Given the description of an element on the screen output the (x, y) to click on. 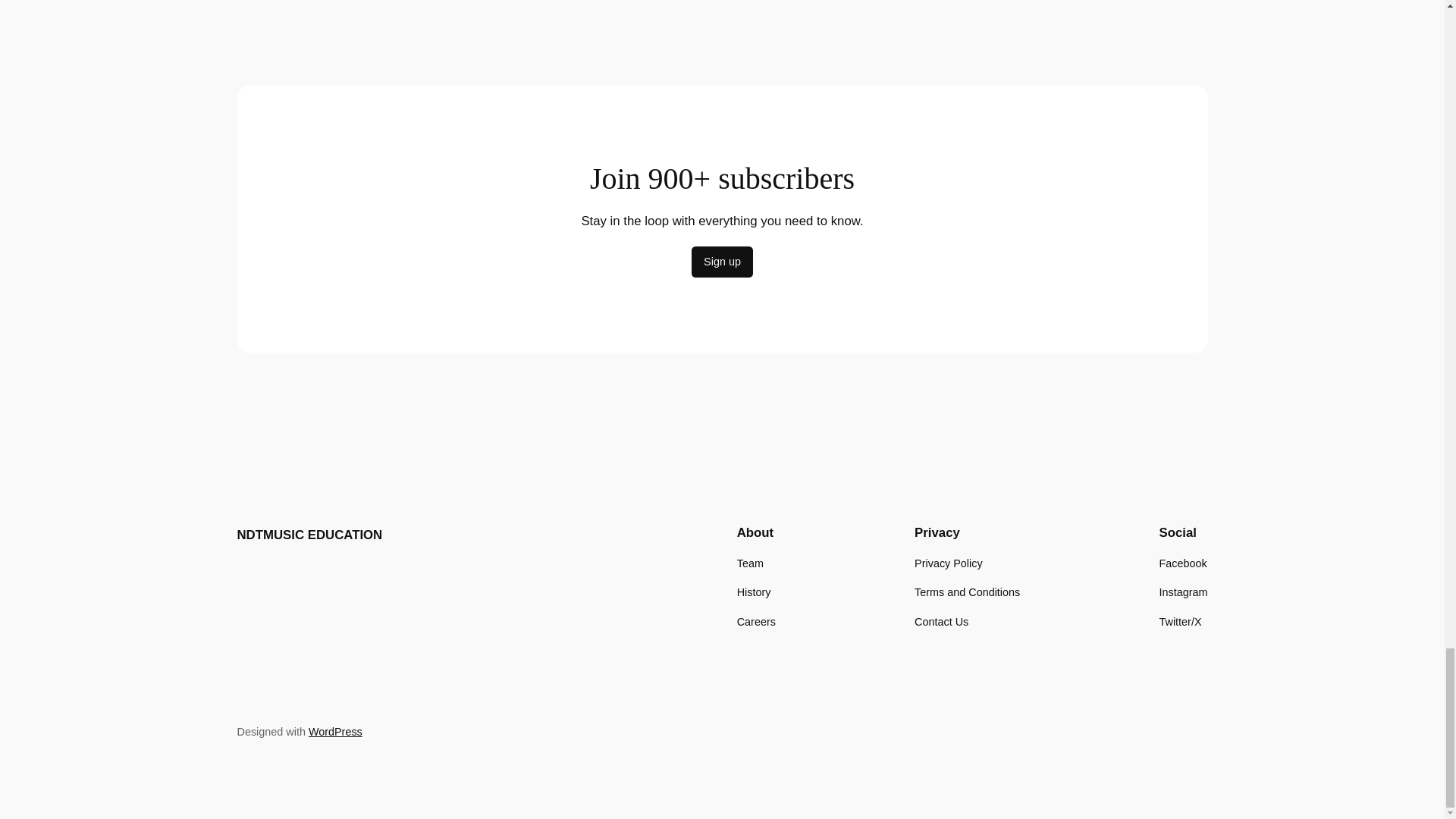
Sign up (721, 262)
WordPress (335, 731)
Instagram (1182, 591)
Terms and Conditions (967, 591)
Privacy Policy (948, 563)
Team (749, 563)
Facebook (1182, 563)
NDTMUSIC EDUCATION (308, 534)
Careers (756, 620)
Contact Us (941, 620)
History (753, 591)
